Given the description of an element on the screen output the (x, y) to click on. 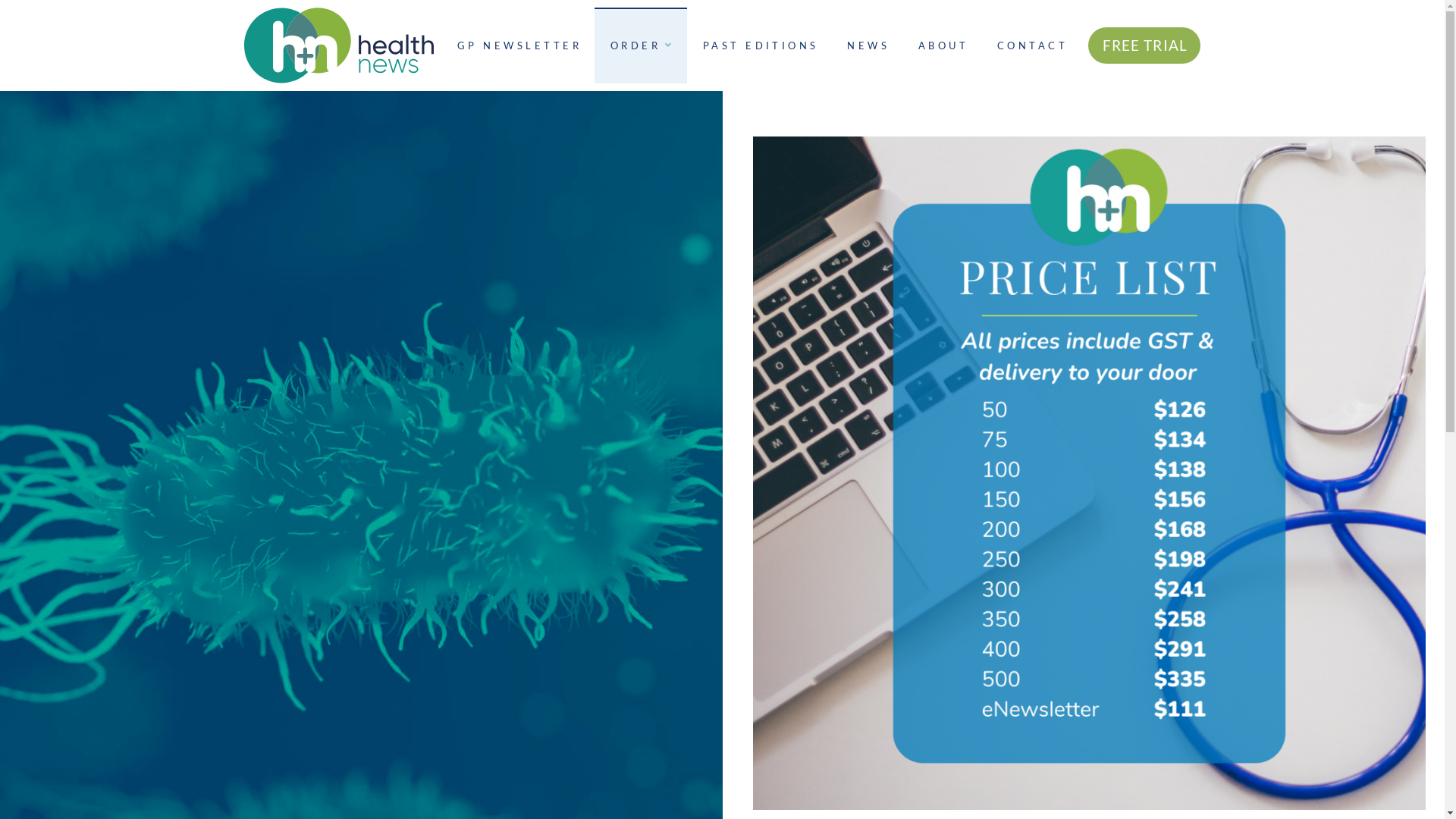
PAST EDITIONS Element type: text (759, 45)
GP NEWSLETTER Element type: text (517, 45)
CONTACT Element type: text (1030, 45)
ABOUT Element type: text (941, 45)
FREE TRIAL Element type: text (1144, 45)
NEWS Element type: text (866, 45)
ORDER Element type: text (640, 45)
